Given the description of an element on the screen output the (x, y) to click on. 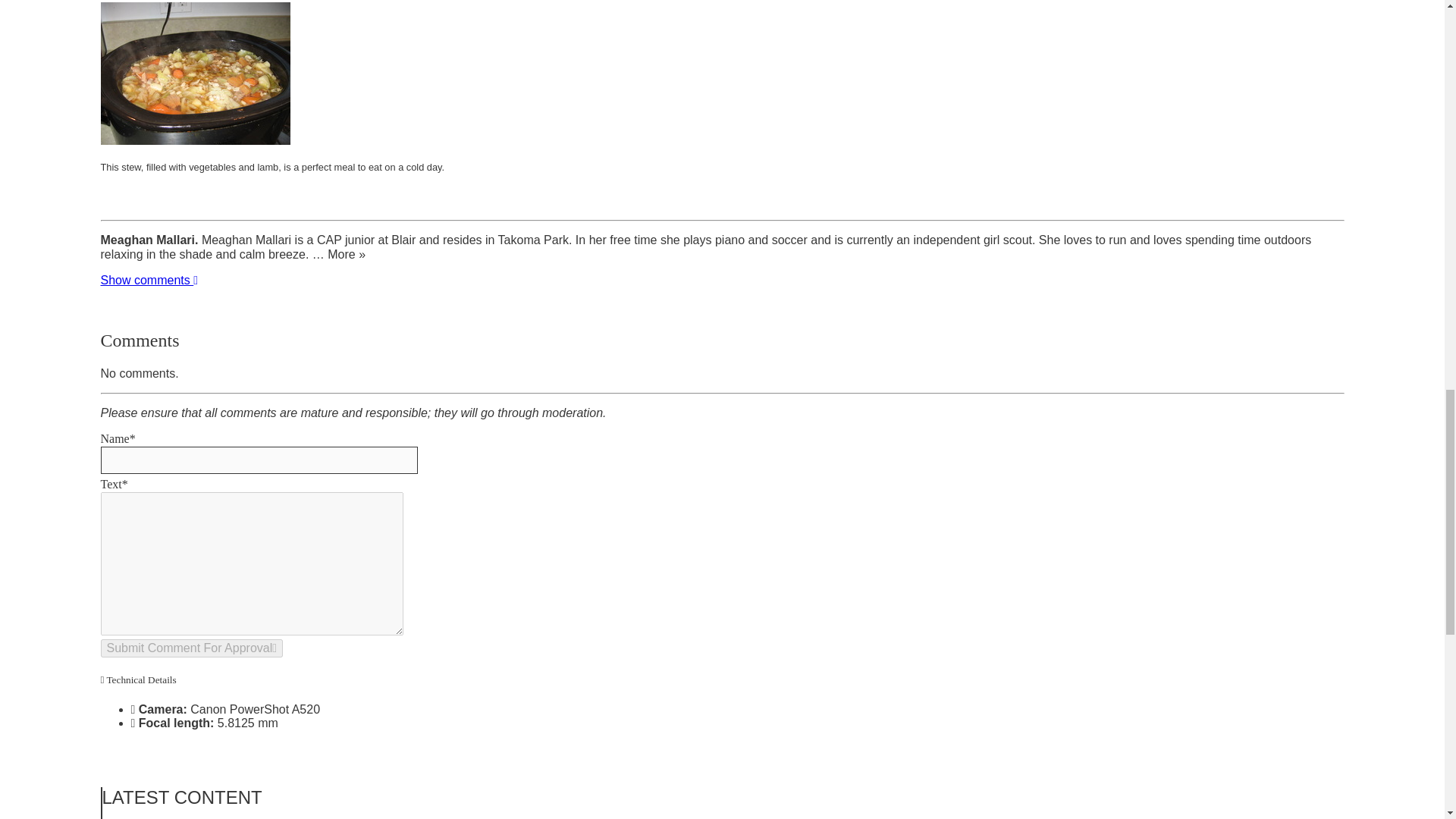
Show comments (149, 279)
Submit Comment For Approval (191, 648)
